Given the description of an element on the screen output the (x, y) to click on. 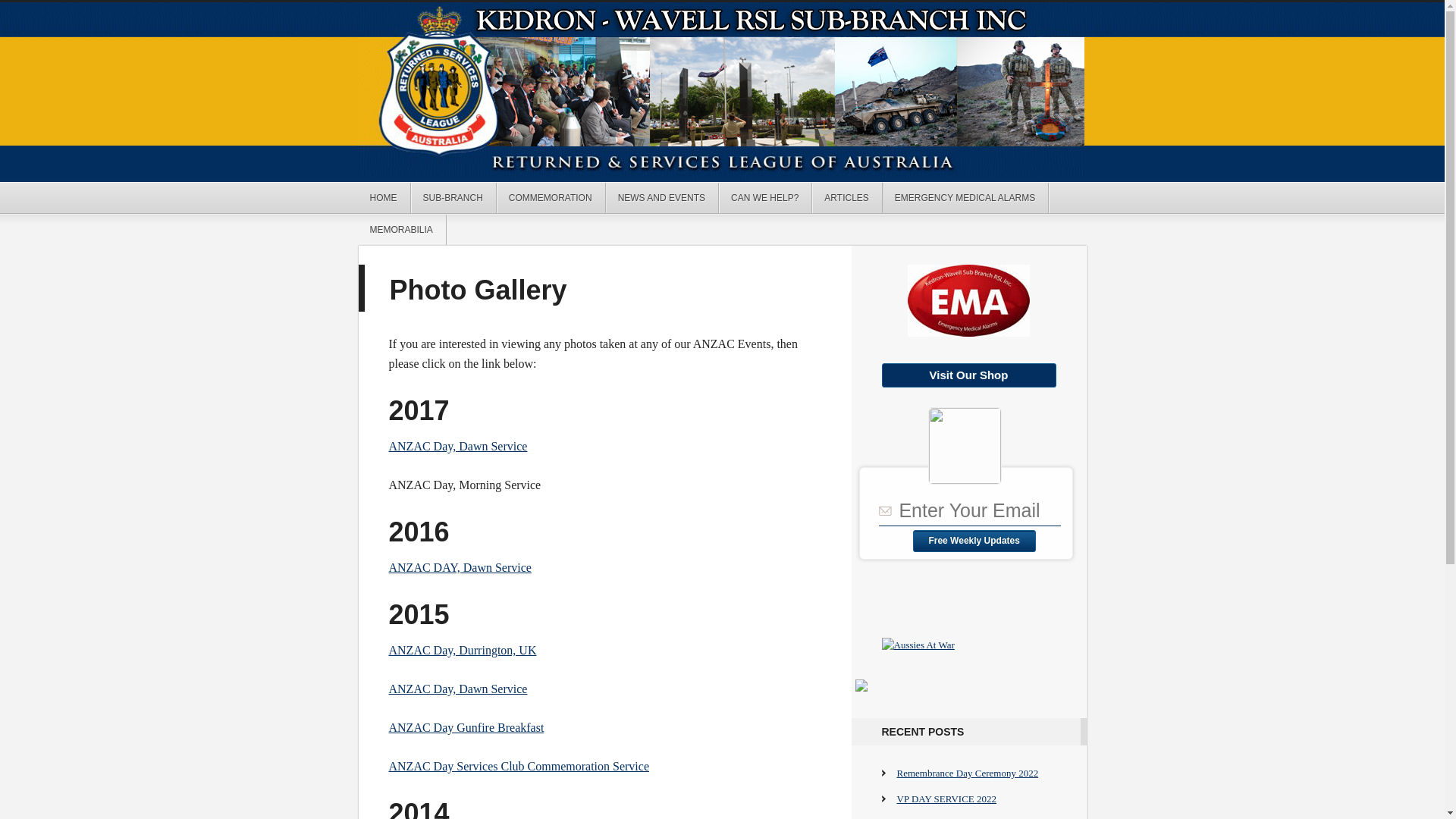
ANZAC Day, Dawn Service Element type: text (457, 445)
EMERGENCY MEDICAL ALARMS Element type: text (965, 197)
K W RSL SUB-BRANCH Element type: text (721, 90)
VP DAY SERVICE 2022 Element type: text (946, 798)
ARTICLES Element type: text (846, 197)
Visit Our Shop Element type: text (968, 375)
Free Weekly Updates Element type: text (974, 541)
ANZAC Day Services Club Commemoration Service Element type: text (518, 765)
Visit Our Shop Element type: text (968, 375)
ANZAC DAY, Dawn Service Element type: text (459, 567)
Aussies At War Element type: hover (917, 644)
Remembrance Day Ceremony 2022 Element type: text (967, 772)
ANZAC Day, Dawn Service Element type: text (457, 688)
Visit Emergency Medical Alarms Element type: hover (968, 300)
ANZAC Day, Durrington, UK Element type: text (462, 649)
ANZAC Day Gunfire Breakfast Element type: text (465, 727)
